Given the description of an element on the screen output the (x, y) to click on. 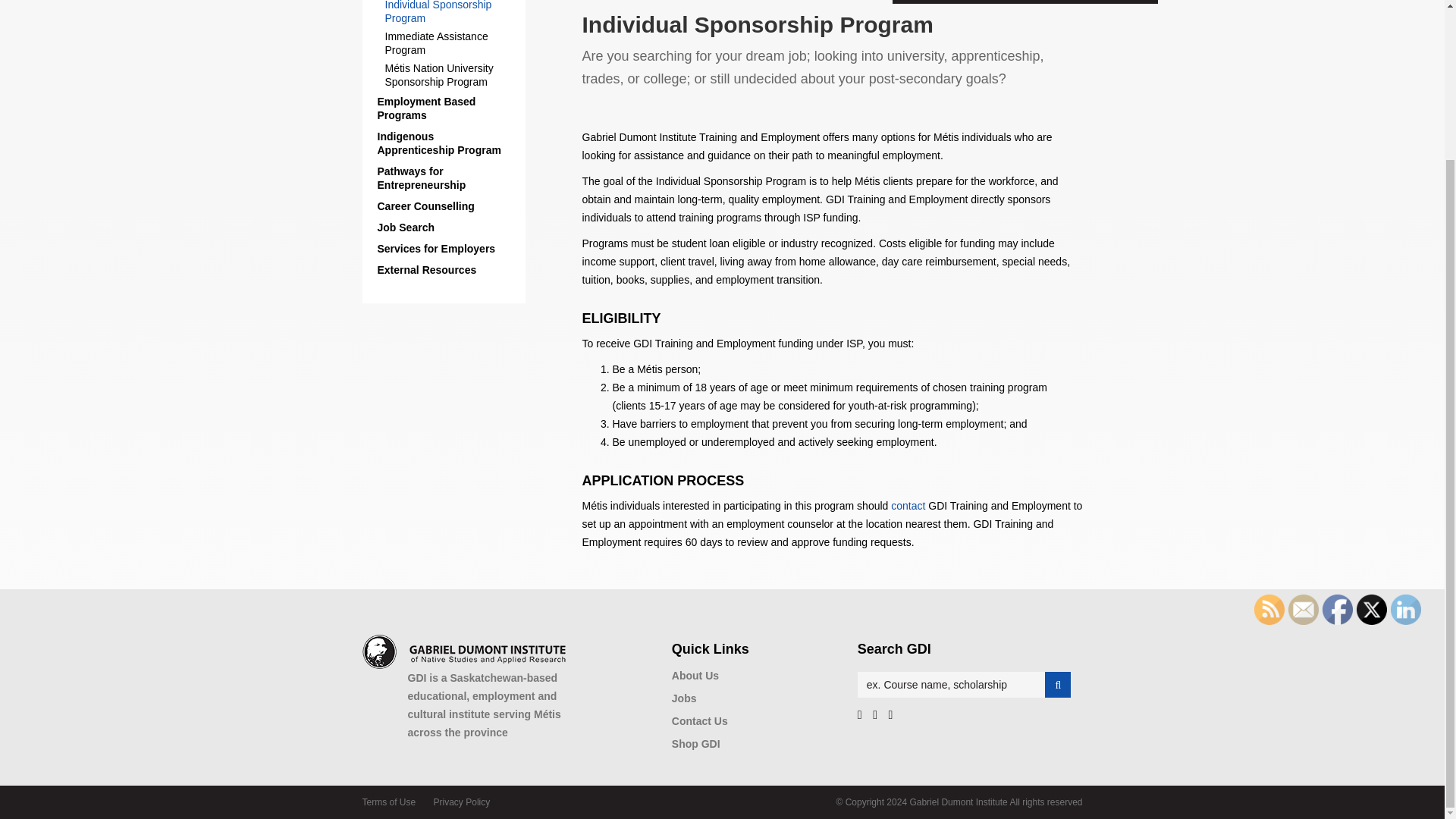
Indigenous Apprenticeship Program (443, 143)
Facebook (1337, 609)
Follow by Email (1303, 609)
Pathways for Entrepreneurship (443, 177)
RSS (1268, 609)
Employment Based Programs (443, 108)
Twitter (1371, 609)
Immediate Assistance Program (451, 42)
Contact Us (907, 505)
Individual Sponsorship Program (451, 12)
LinkedIn (1405, 609)
Career Counselling (443, 206)
